Given the description of an element on the screen output the (x, y) to click on. 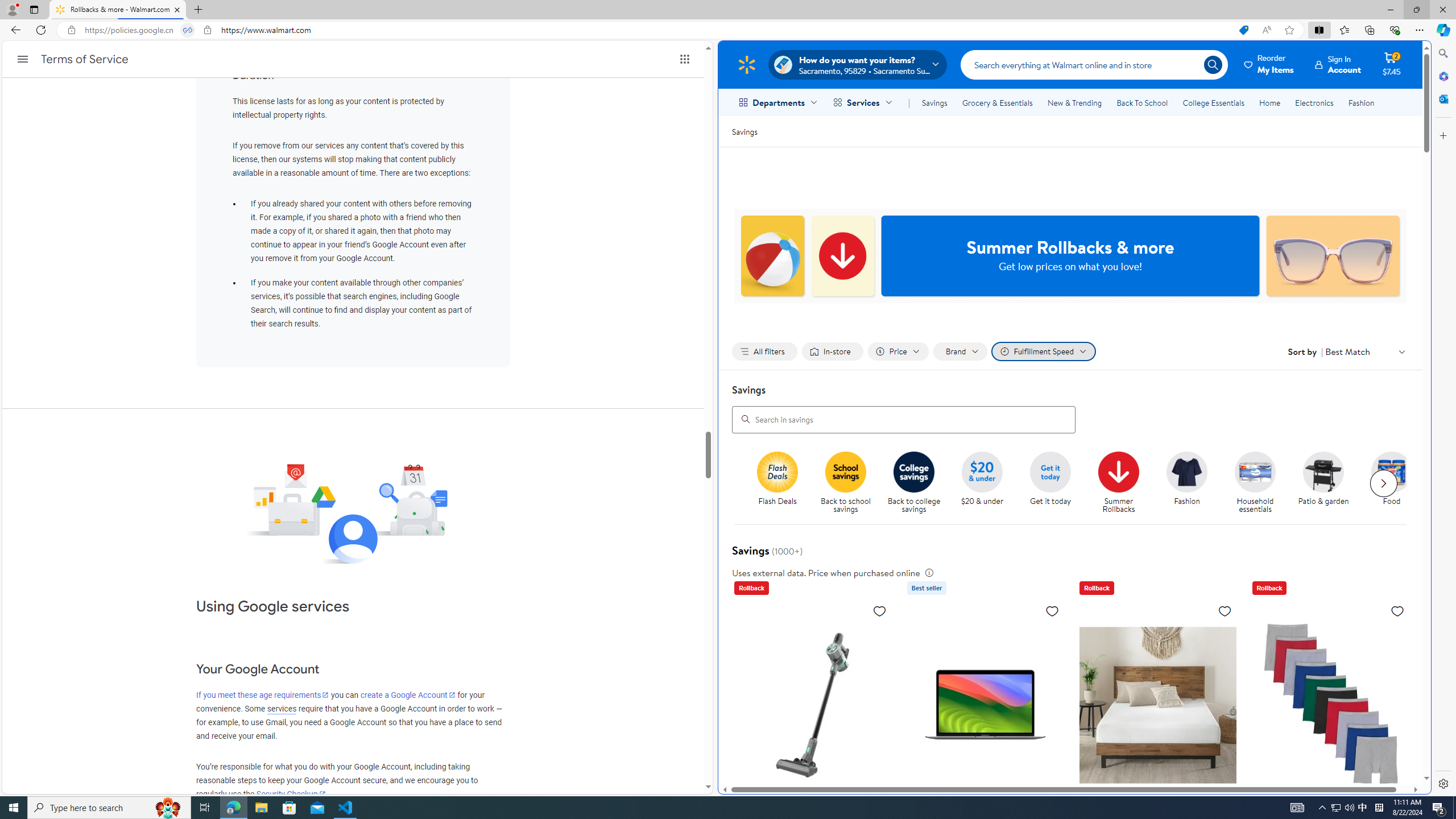
Cart contains 2 items Total Amount $7.45 (1391, 64)
New & Trending (1075, 102)
Back to College savings Back to college savings (913, 483)
